Given the description of an element on the screen output the (x, y) to click on. 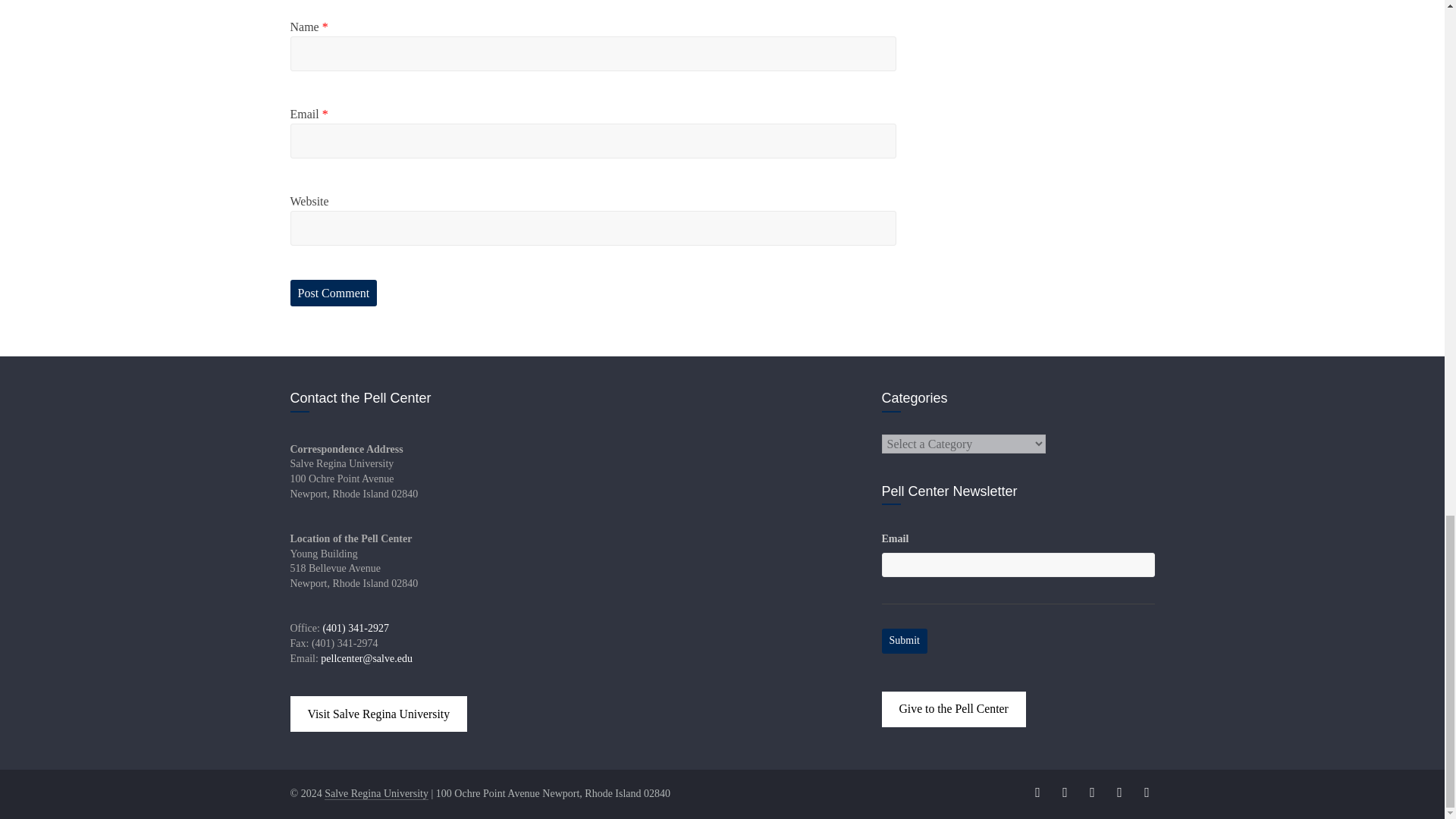
Post Comment (333, 293)
Submit (904, 640)
Post Comment (333, 293)
